Given the description of an element on the screen output the (x, y) to click on. 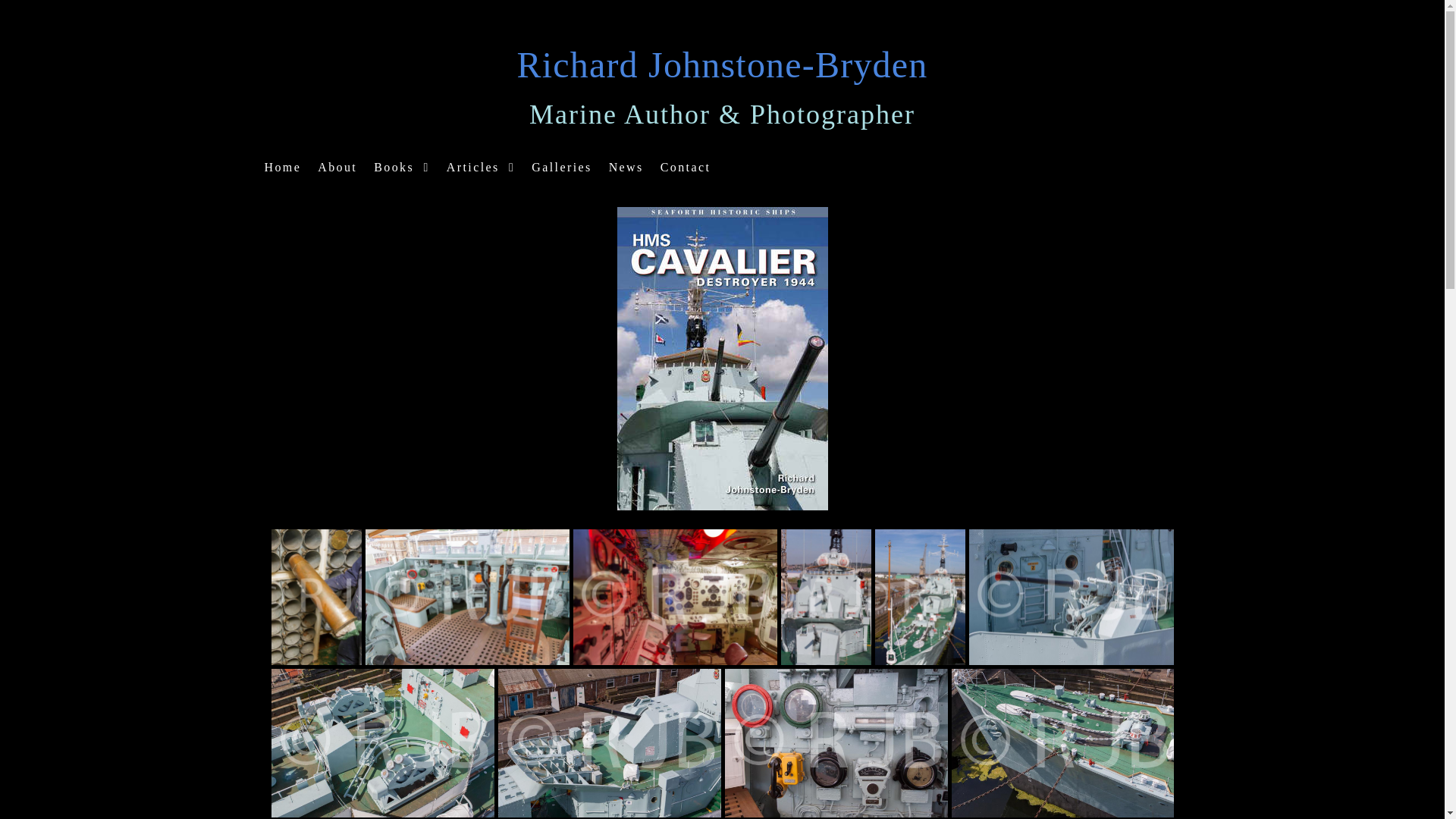
News (625, 167)
Contact (685, 167)
Cavalier210714No-1221 (467, 597)
Richard Johnstone-Bryden (721, 65)
Cavalier220714No-267 (675, 597)
Galleries (560, 167)
About (336, 167)
HMSCavalier120614No-1403 (382, 743)
Home (283, 167)
Articles (481, 167)
HMSCavalier120614No-1064 (1071, 597)
Books (401, 167)
